Given the description of an element on the screen output the (x, y) to click on. 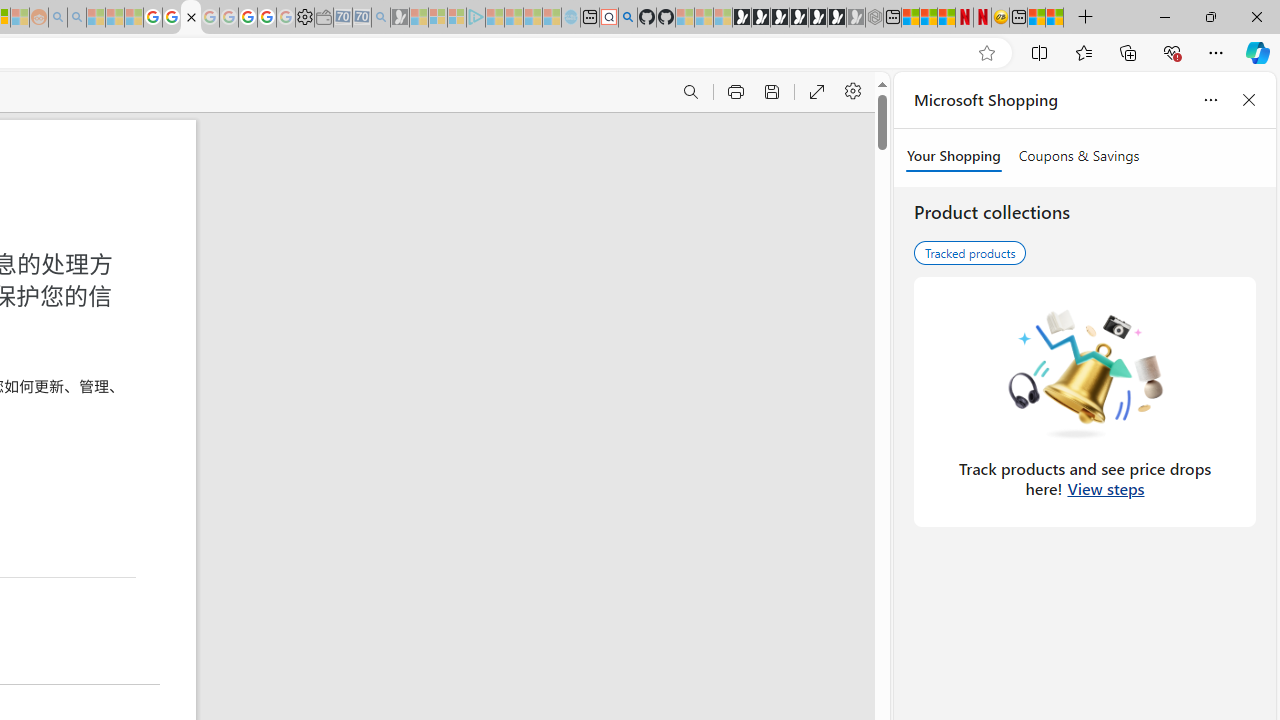
Wildlife - MSN (1035, 17)
